Given the description of an element on the screen output the (x, y) to click on. 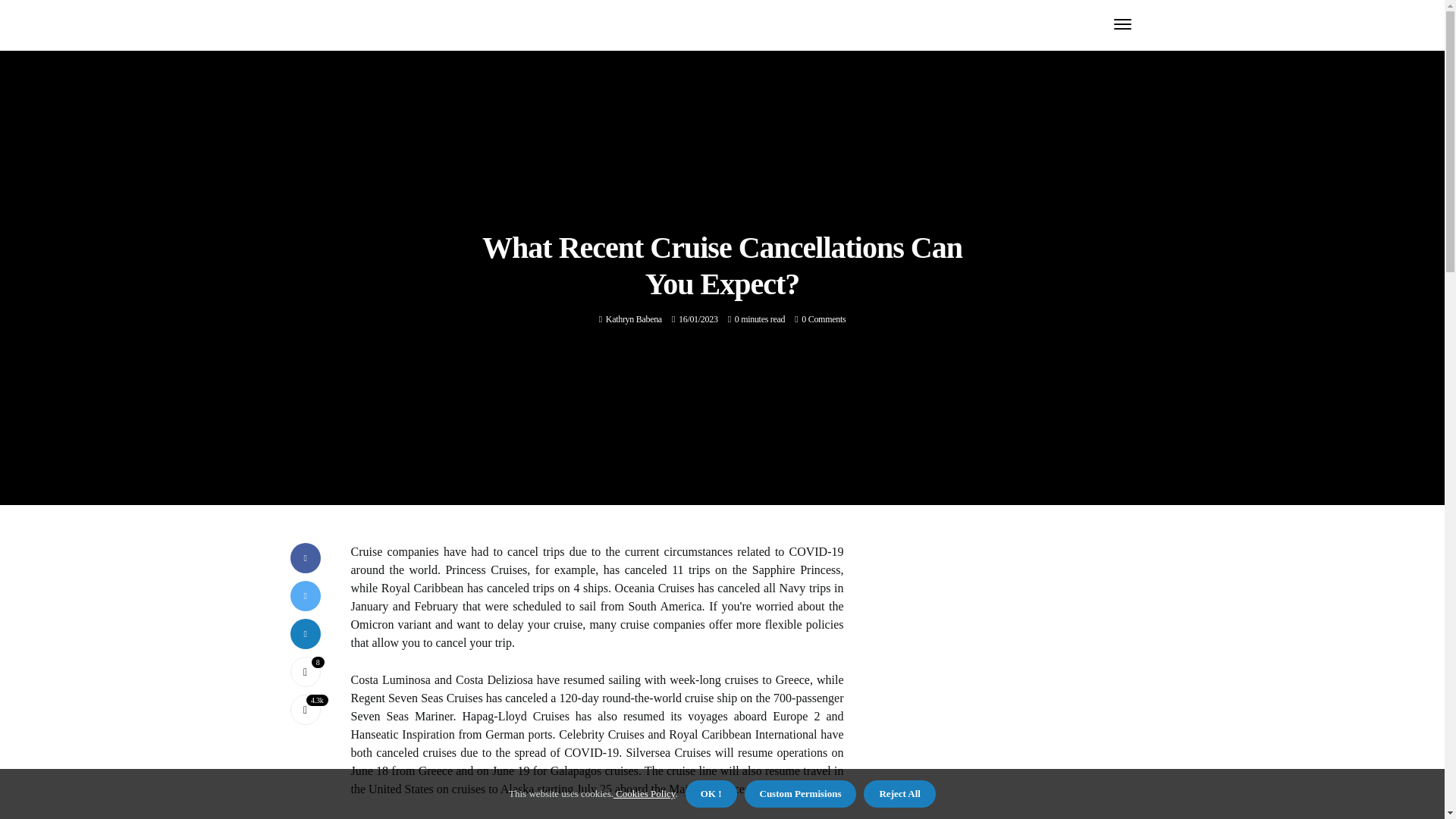
8 (304, 671)
Like (304, 671)
Kathryn Babena (633, 318)
0 Comments (823, 318)
Posts by Kathryn Babena (633, 318)
